Given the description of an element on the screen output the (x, y) to click on. 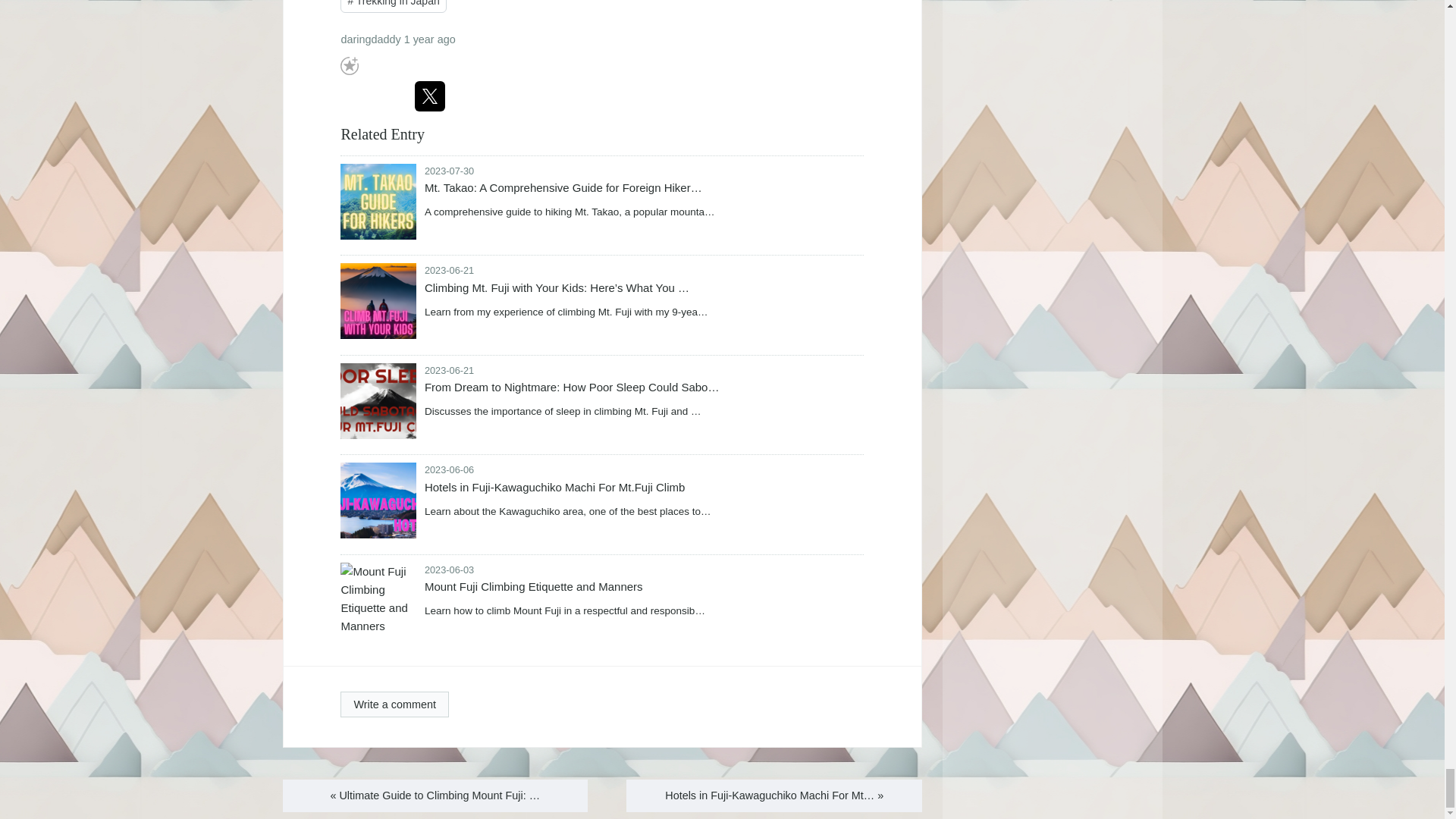
2023-07-30T14:30:16Z (449, 170)
2023-06-06T11:12:24Z (429, 39)
2023-06-21T12:37:05Z (449, 270)
Bookmark this entry on Hatena::Bookmark (372, 96)
Mt. Takao: A Comprehensive Guide for Foreign Hikers (378, 201)
2023-06-20T23:42:48Z (449, 369)
